Given the description of an element on the screen output the (x, y) to click on. 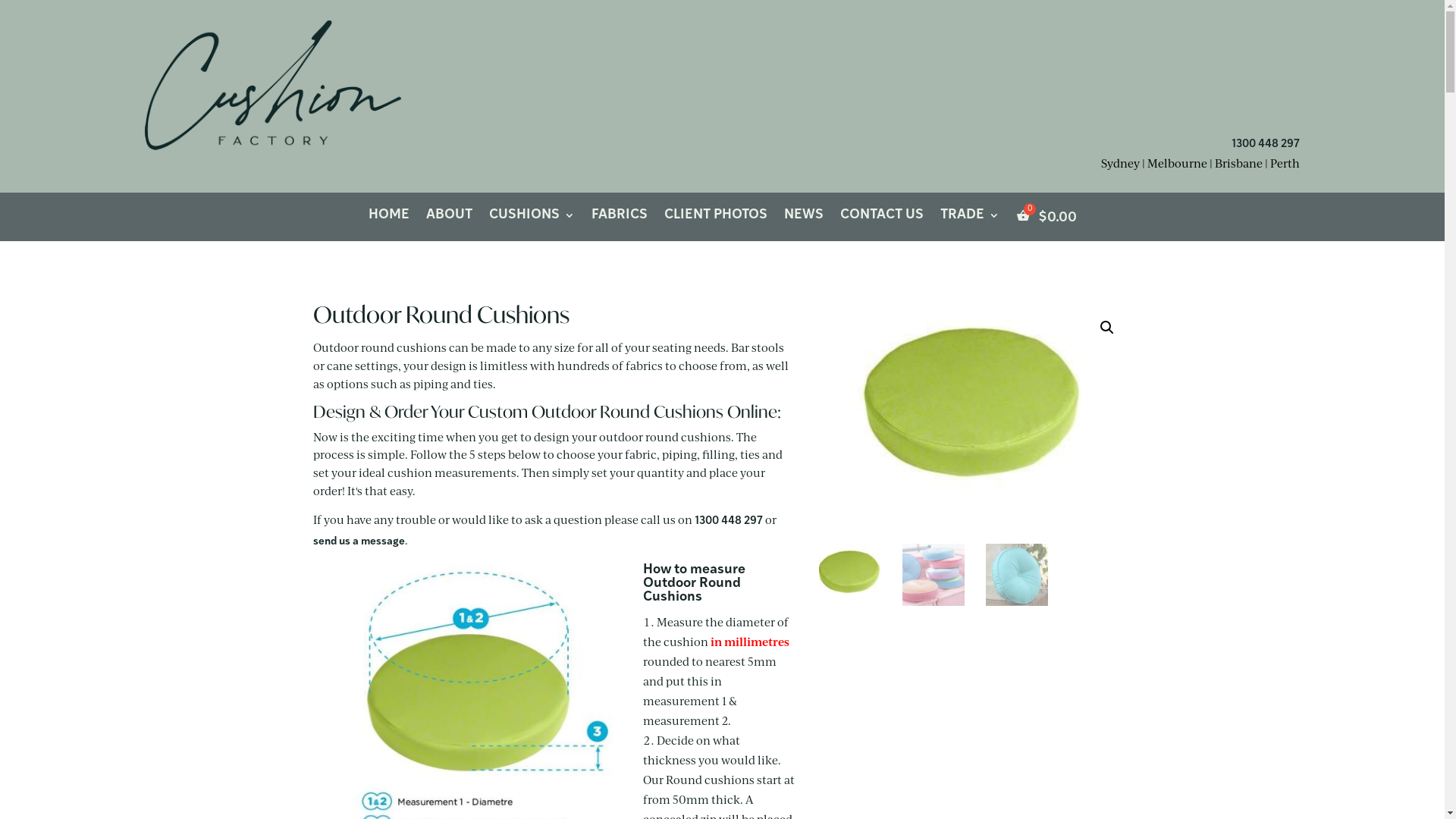
CUSHIONS Element type: text (531, 219)
1300 448 297 Element type: text (1265, 144)
ABOUT Element type: text (449, 219)
Primary_DarkBlue_s Element type: hover (272, 96)
CONTACT US Element type: text (881, 219)
HOME Element type: text (388, 219)
1300 448 297 Element type: text (728, 521)
Outdoor-Round_Cushions Element type: hover (975, 412)
TRADE Element type: text (969, 219)
$0.00 Element type: text (1046, 219)
FABRICS Element type: text (619, 219)
NEWS Element type: text (803, 219)
CLIENT PHOTOS Element type: text (715, 219)
send us a message Element type: text (358, 541)
